Given the description of an element on the screen output the (x, y) to click on. 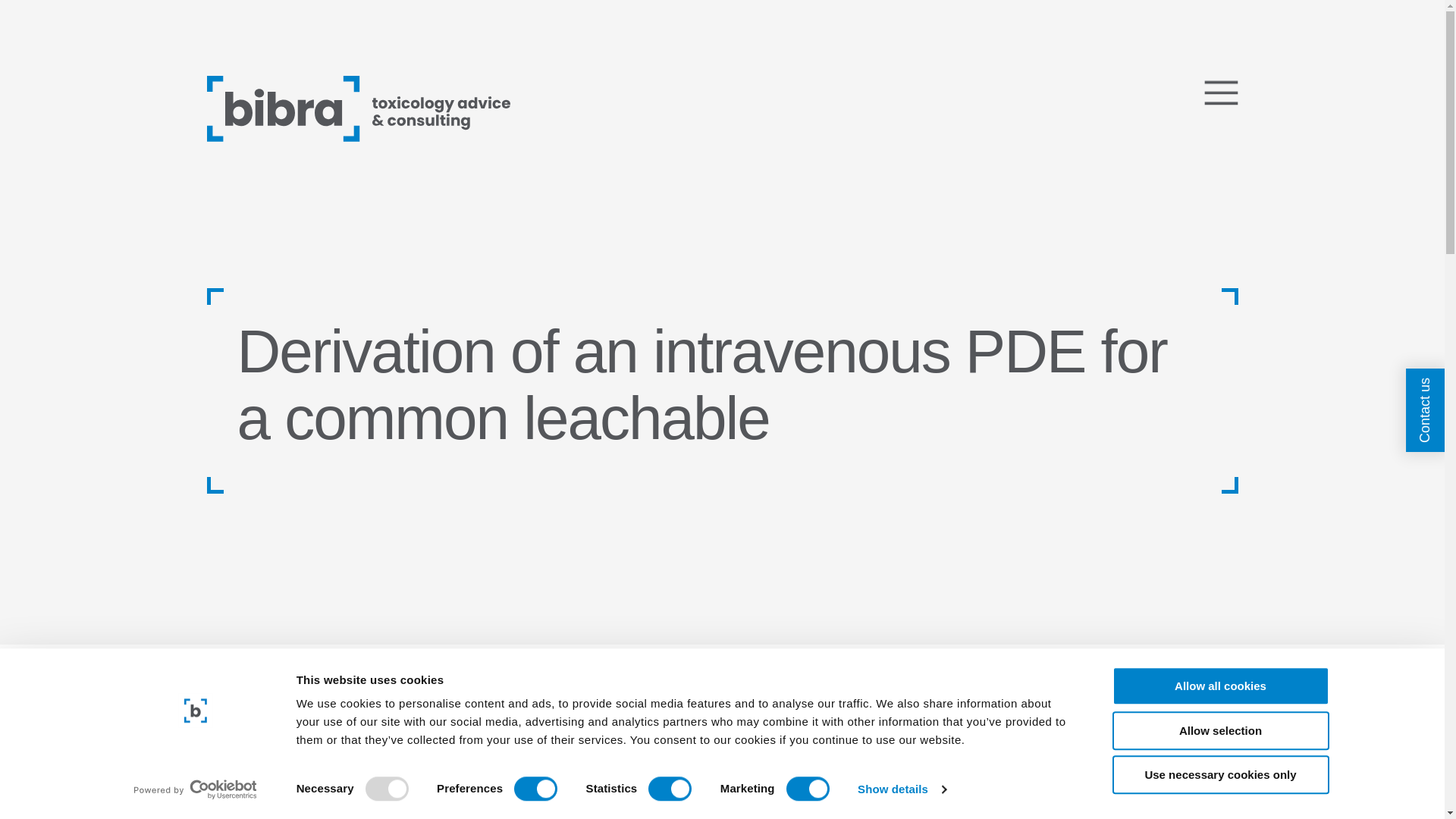
Allow all cookies (1219, 685)
Bibra (357, 108)
Allow selection (1219, 730)
Show details (900, 789)
Use necessary cookies only (1219, 774)
